Given the description of an element on the screen output the (x, y) to click on. 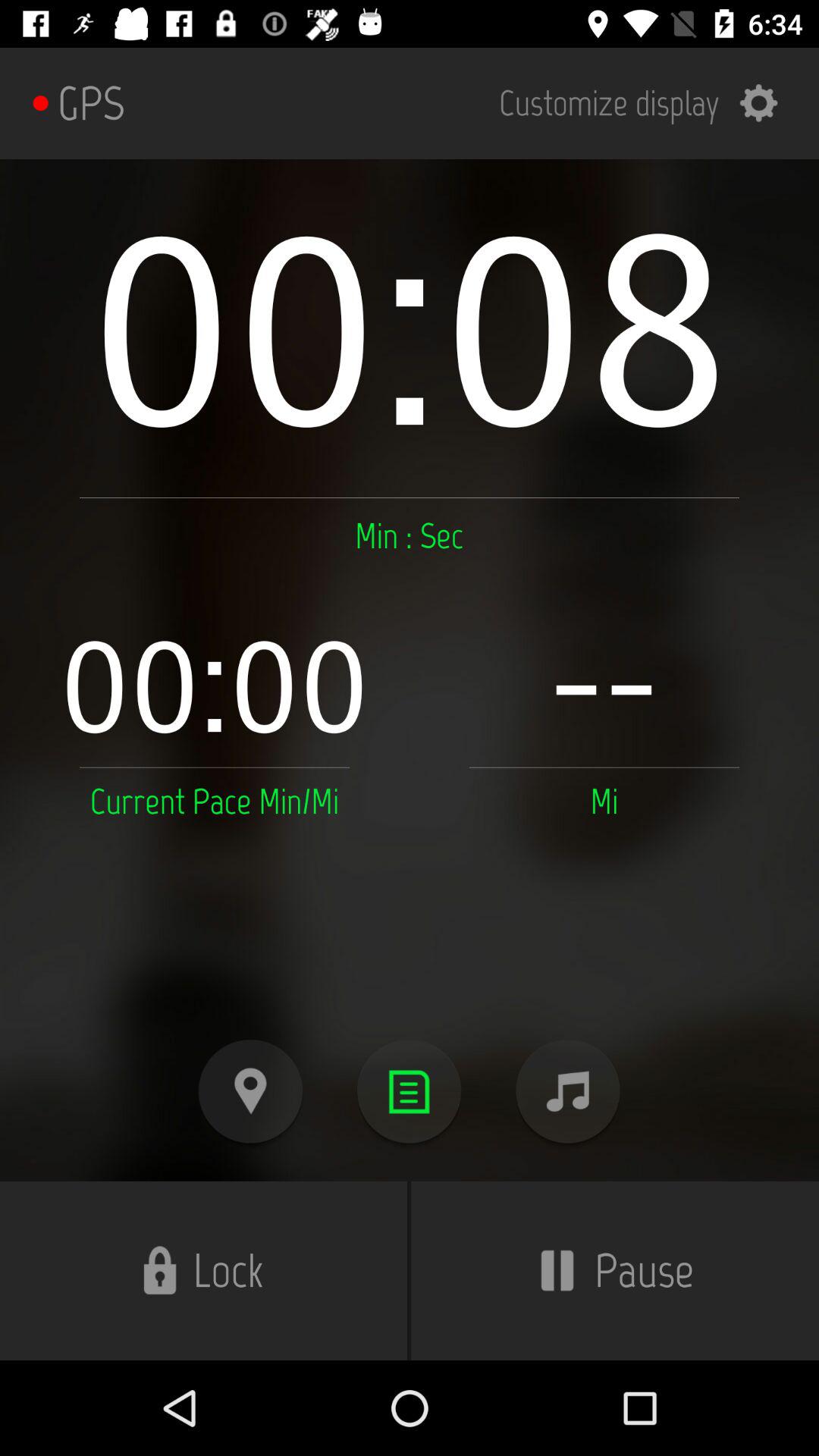
show details (408, 1091)
